Given the description of an element on the screen output the (x, y) to click on. 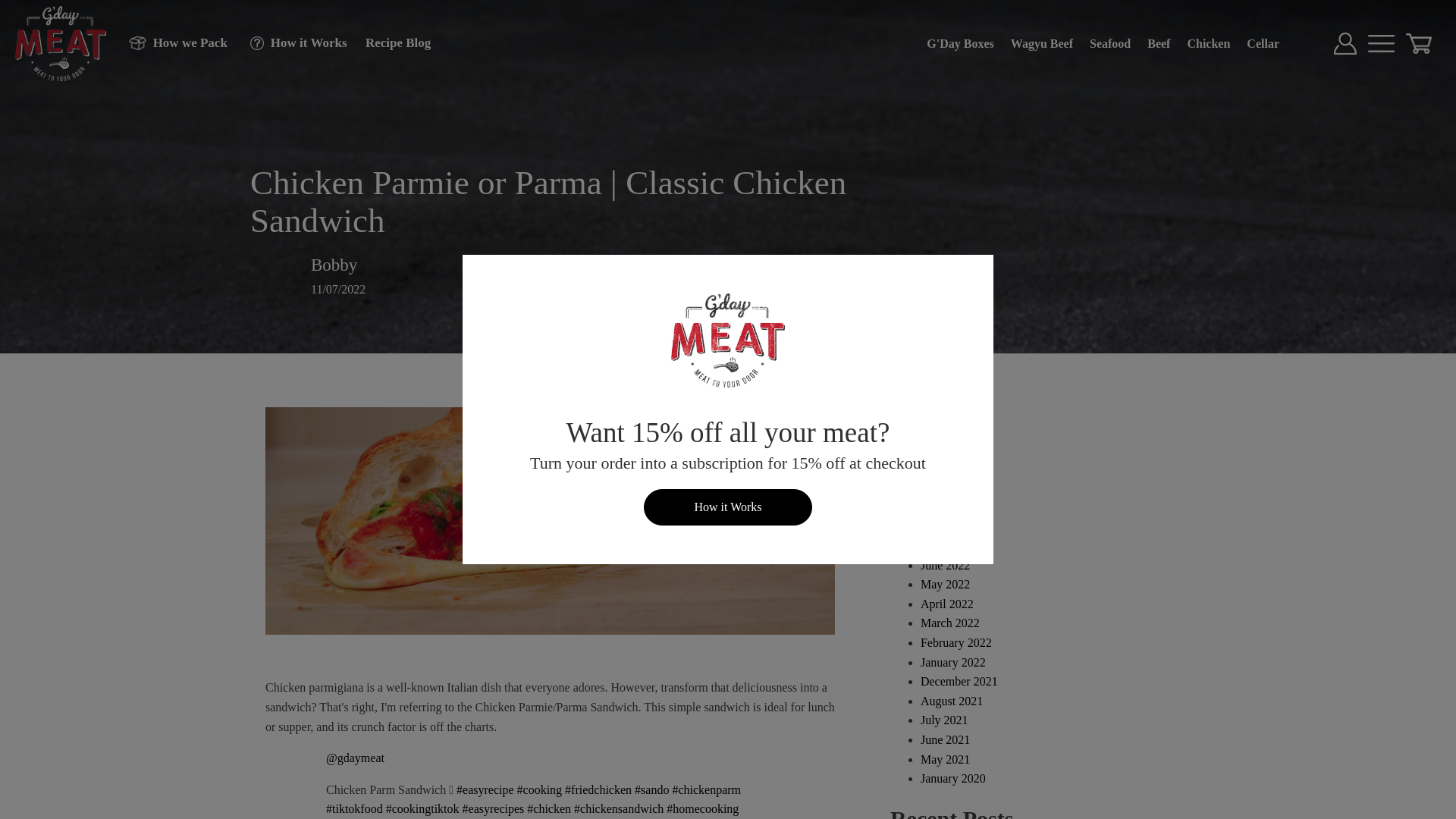
tiktokfood (354, 808)
Cellar (1263, 43)
How it Works  (292, 43)
How we Pack (170, 43)
Recipe Blog (390, 43)
Wagyu Beef (1042, 43)
chickensandwich (618, 808)
chicken (548, 808)
sando (651, 789)
chickenparm (706, 789)
